Given the description of an element on the screen output the (x, y) to click on. 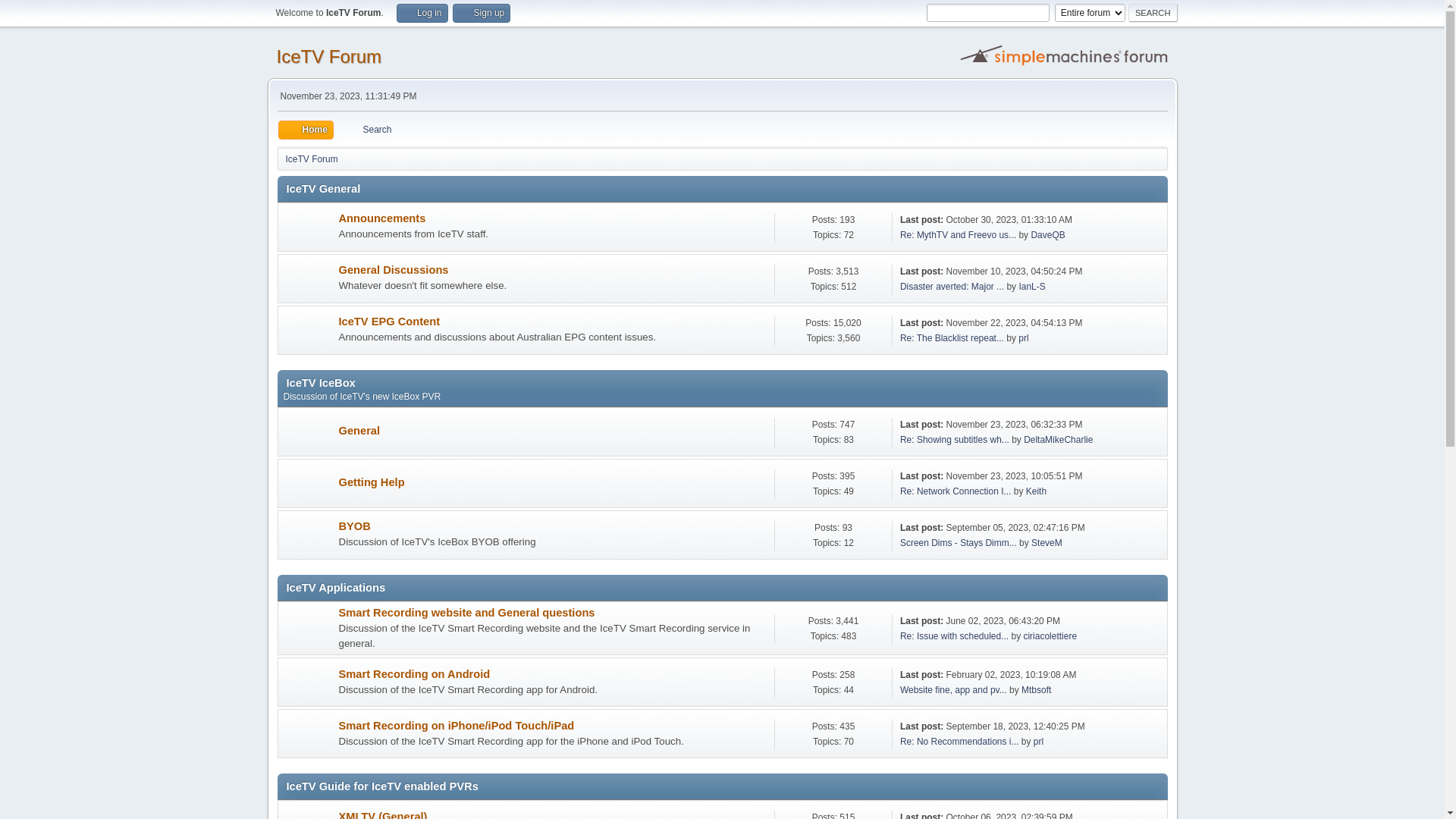
New Posts Element type: hover (308, 330)
Smart Recording website and General questions Element type: text (466, 612)
New Posts Element type: hover (308, 628)
Website fine, app and pv... Element type: text (953, 689)
Re: Network Connection I... Element type: text (955, 491)
ciriacolettiere Element type: text (1049, 635)
BYOB Element type: text (354, 526)
General Discussions Element type: text (393, 269)
prl Element type: text (1038, 741)
Smart Recording on Android Element type: text (413, 674)
General Element type: text (358, 430)
New Posts Element type: hover (308, 682)
IceTV EPG Content Element type: text (388, 321)
New Posts Element type: hover (308, 734)
Disaster averted: Major ... Element type: text (952, 286)
Re: Showing subtitles wh... Element type: text (954, 439)
New Posts Element type: hover (308, 432)
DeltaMikeCharlie Element type: text (1057, 439)
Announcements Element type: text (381, 218)
New Posts Element type: hover (308, 535)
Search Element type: text (367, 129)
IceTV Forum Element type: text (328, 56)
SteveM Element type: text (1046, 542)
Re: No Recommendations i... Element type: text (959, 741)
Sign up Element type: text (481, 12)
Simple Machines Forum Element type: hover (1065, 54)
Getting Help Element type: text (371, 482)
Re: MythTV and Freevo us... Element type: text (958, 234)
IanL-S Element type: text (1031, 286)
IceTV Forum Element type: text (311, 156)
Mtbsoft Element type: text (1036, 689)
Smart Recording on iPhone/iPod Touch/iPad Element type: text (456, 725)
New Posts Element type: hover (308, 484)
New Posts Element type: hover (308, 227)
Screen Dims - Stays Dimm... Element type: text (958, 542)
Log in Element type: text (422, 12)
Re: Issue with scheduled... Element type: text (954, 635)
DaveQB Element type: text (1047, 234)
Re: The Blacklist repeat... Element type: text (952, 337)
Home Element type: text (304, 129)
New Posts Element type: hover (308, 279)
prl Element type: text (1023, 337)
Keith Element type: text (1036, 491)
Search Element type: text (1152, 12)
